Given the description of an element on the screen output the (x, y) to click on. 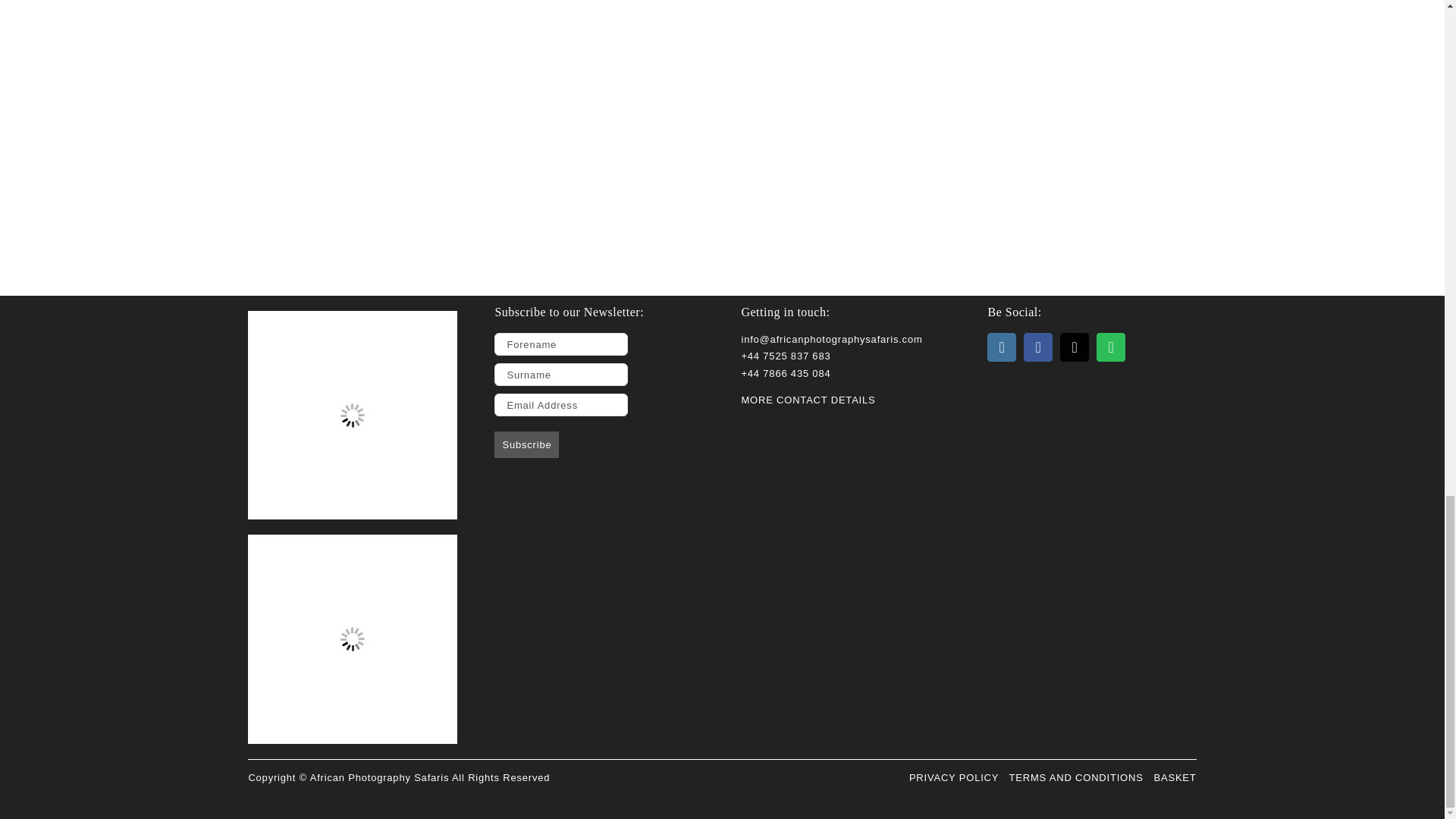
Subscribe (527, 444)
MORE CONTACT DETAILS (808, 399)
PRIVACY POLICY (953, 777)
TERMS AND CONDITIONS (1075, 777)
Subscribe (527, 444)
BASKET (1174, 777)
